Given the description of an element on the screen output the (x, y) to click on. 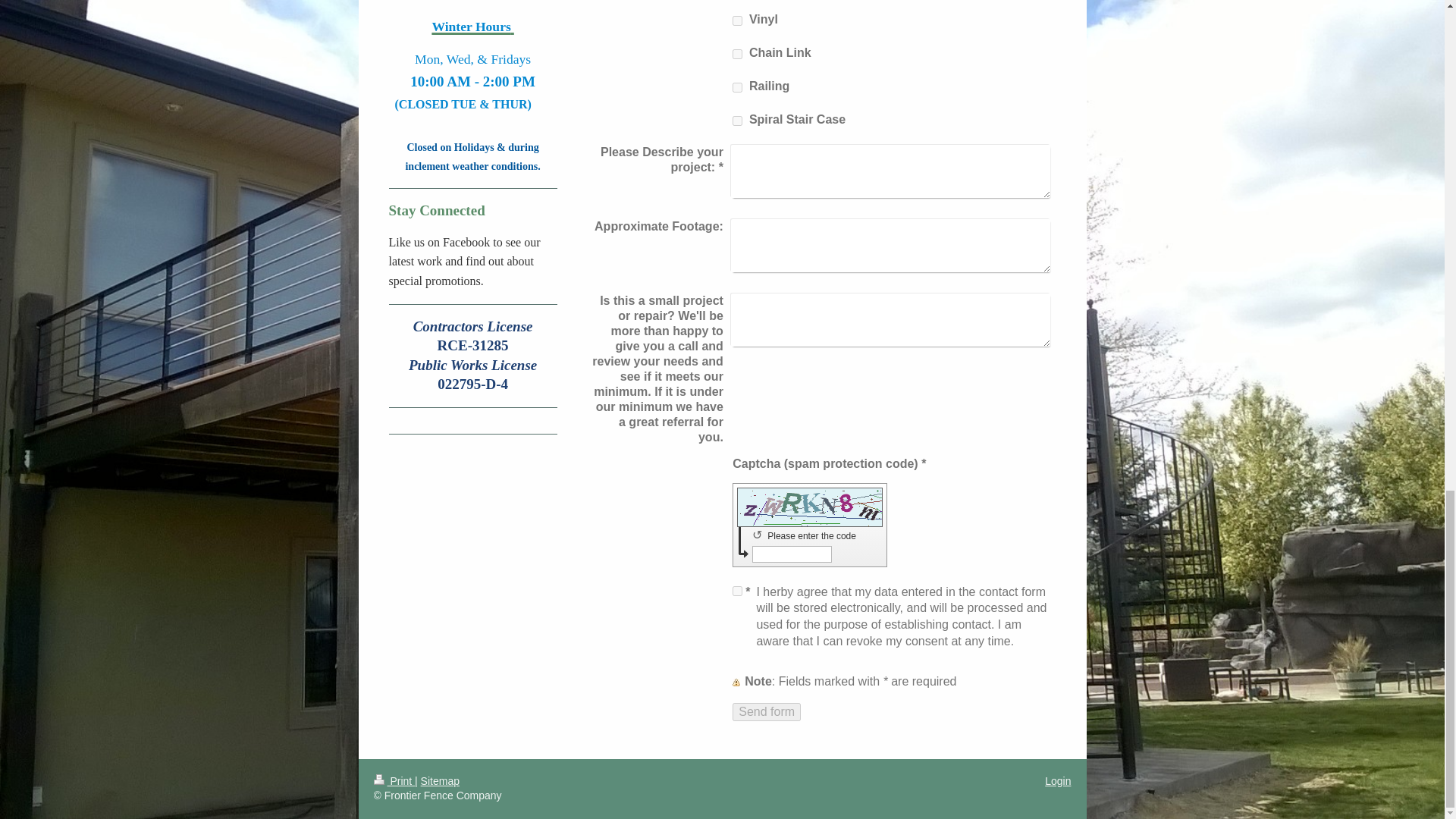
Generate new code (759, 534)
on (737, 591)
on (737, 53)
on (737, 121)
Send form (766, 711)
on (737, 87)
on (737, 20)
